Given the description of an element on the screen output the (x, y) to click on. 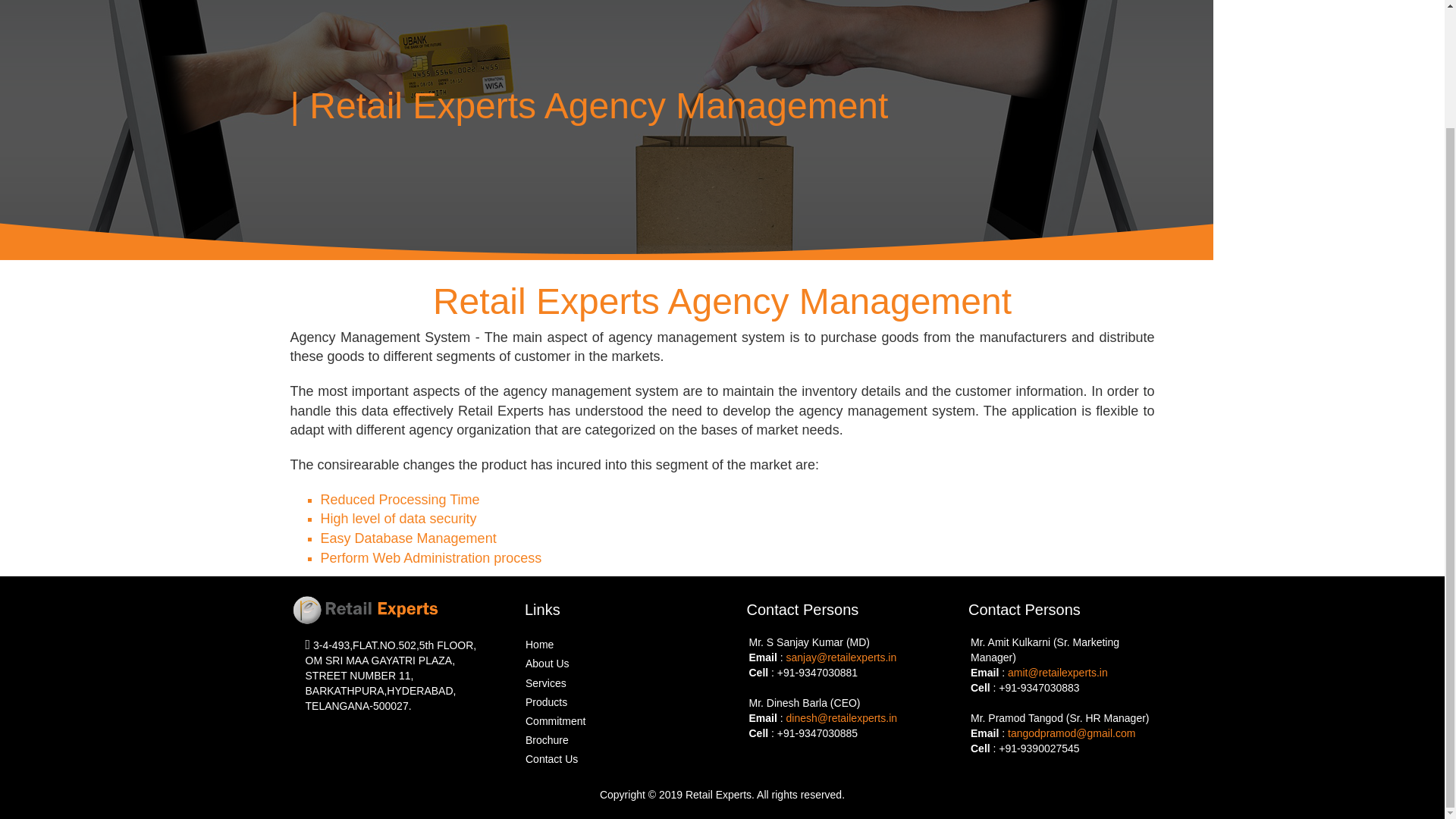
About Us (547, 663)
Services (545, 683)
Products (546, 702)
Contact Us (551, 758)
Brochure (547, 739)
Home (539, 644)
Commitment (555, 720)
